Given the description of an element on the screen output the (x, y) to click on. 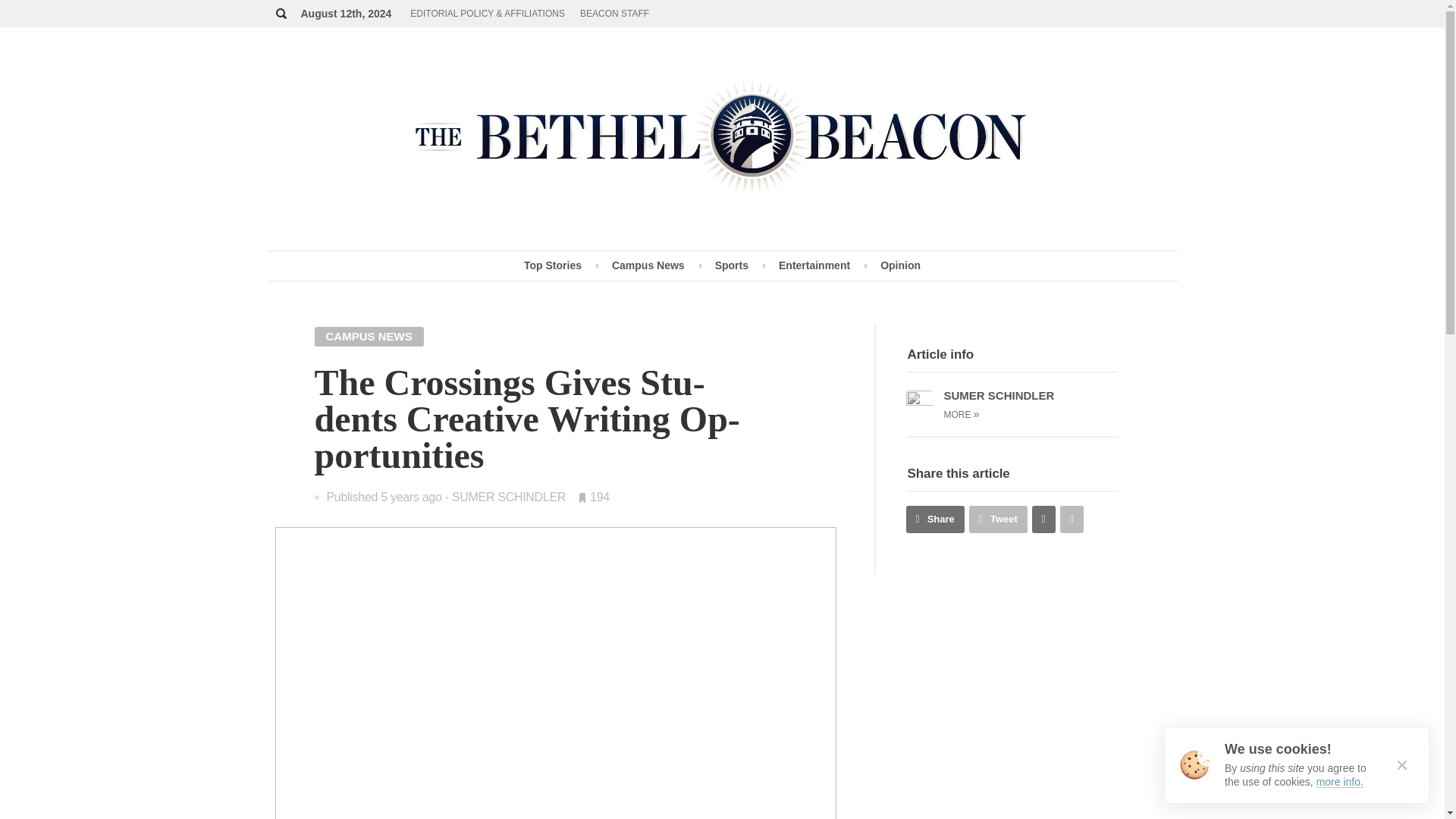
Search (948, 163)
SUMER SCHINDLER (508, 496)
Entertainment (813, 265)
Share (934, 519)
Opinion (900, 265)
Sports (732, 265)
Top Stories (552, 265)
Tweet (998, 519)
BEACON STAFF (614, 13)
Campus News (648, 265)
